Given the description of an element on the screen output the (x, y) to click on. 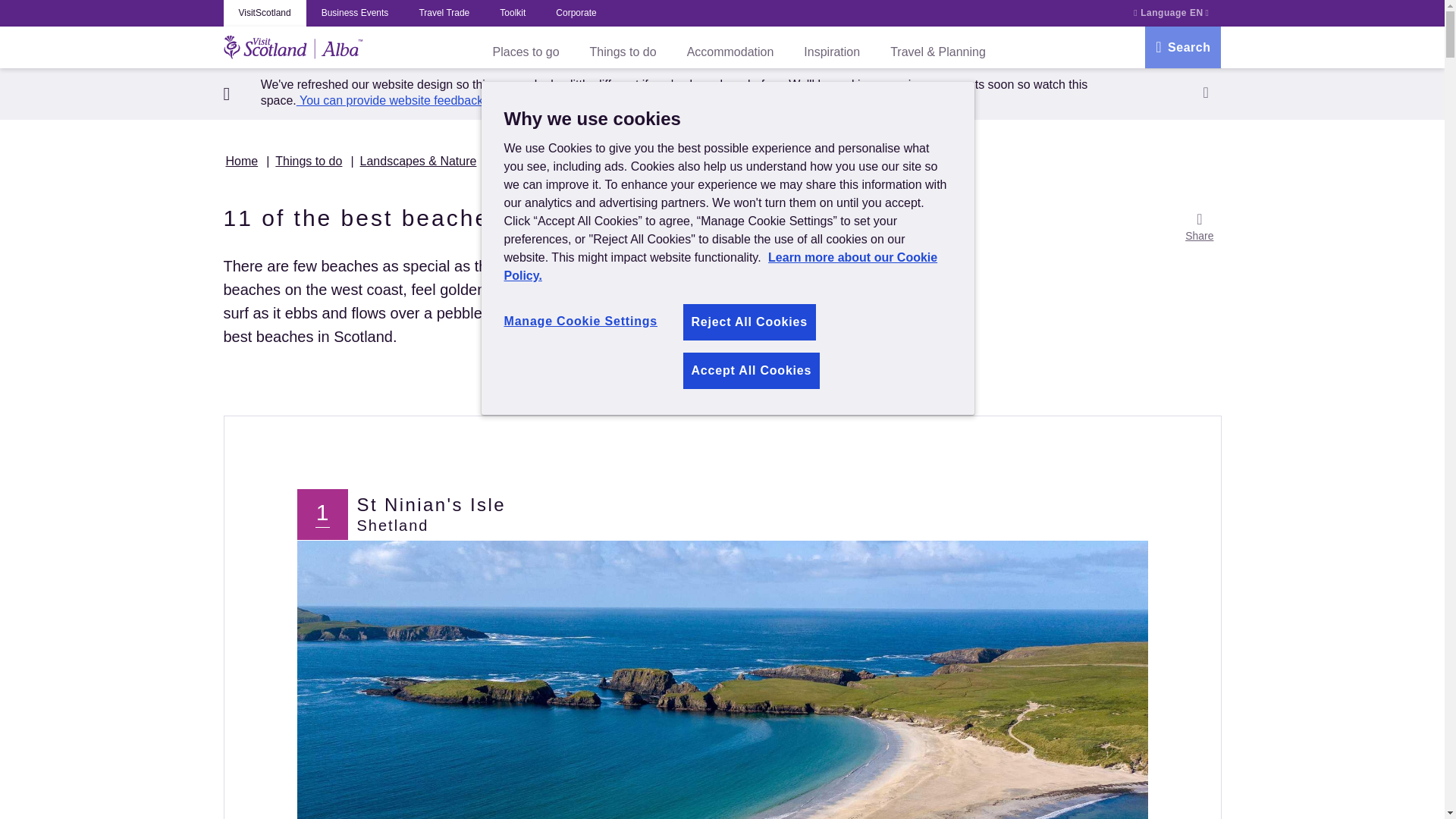
LanguageEN (1172, 12)
Toolkit (512, 13)
Corporate (575, 13)
Home (242, 160)
Close (1206, 91)
Things to do (622, 51)
Search (1182, 46)
Travel Trade (443, 13)
VisitScotland Home (292, 47)
Share (1198, 227)
VisitScotland (263, 13)
Places to go (526, 51)
Accommodation (730, 51)
Things to do (308, 160)
Business Events (354, 13)
